Given the description of an element on the screen output the (x, y) to click on. 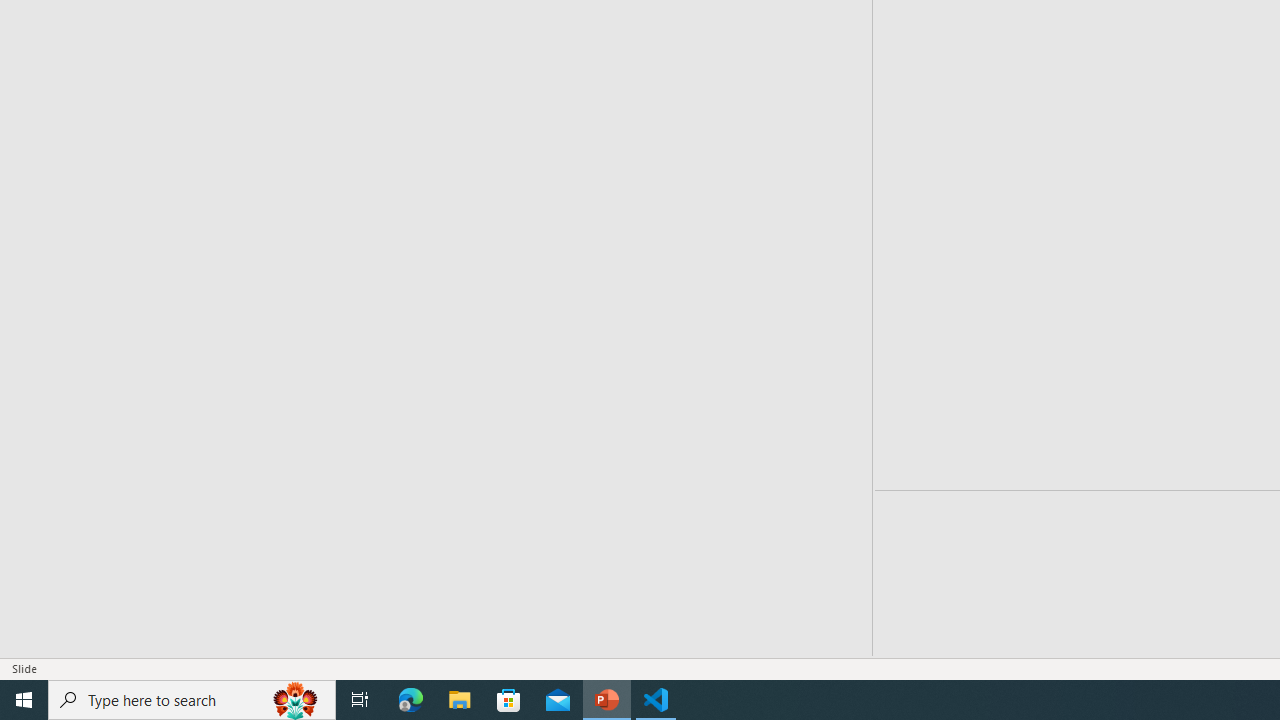
Type here to search (191, 699)
Visual Studio Code - 1 running window (656, 699)
File Explorer (460, 699)
Microsoft Store (509, 699)
Search highlights icon opens search home window (295, 699)
Start (24, 699)
PowerPoint - 1 running window (607, 699)
Task View (359, 699)
Microsoft Edge (411, 699)
